Given the description of an element on the screen output the (x, y) to click on. 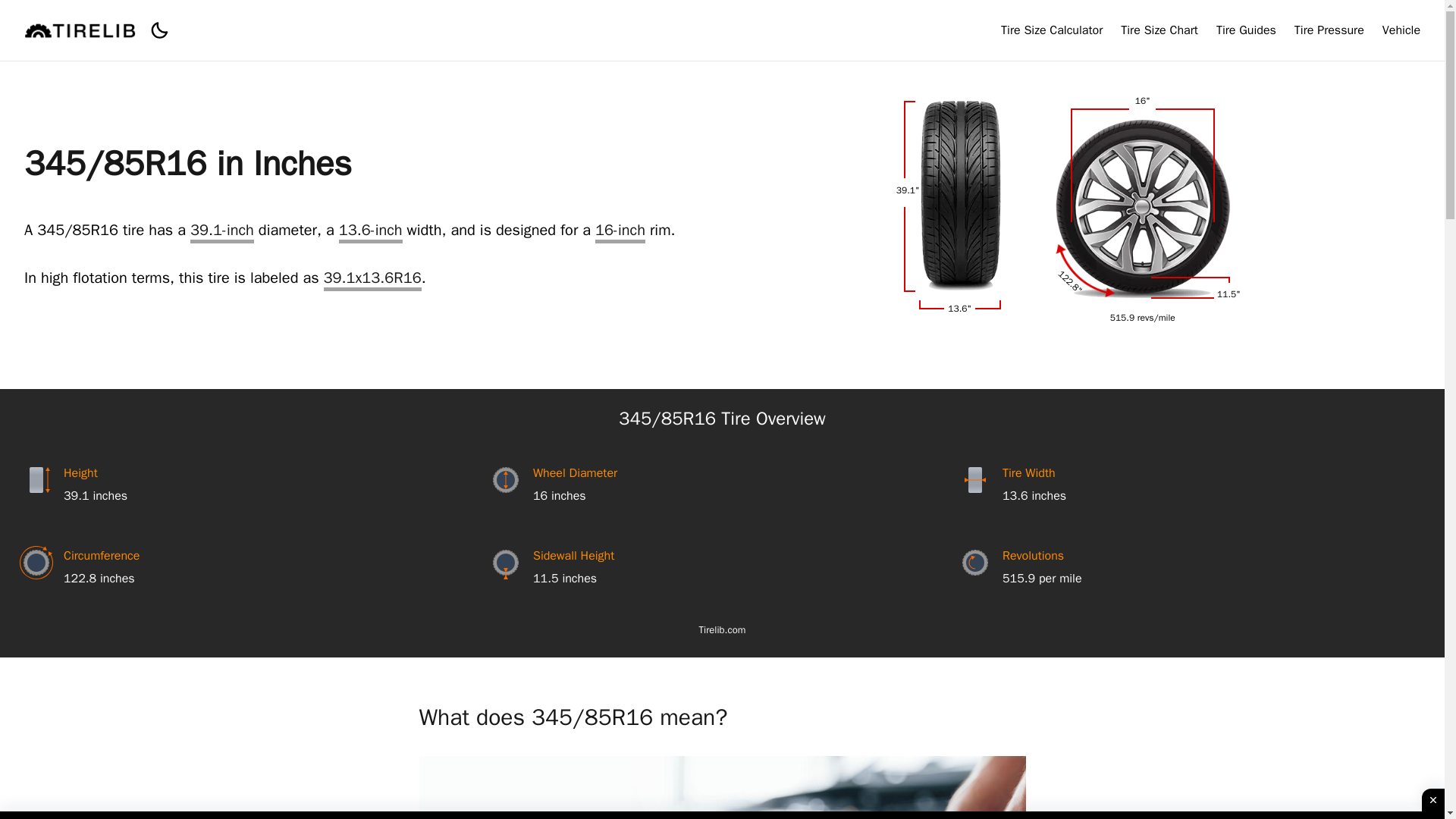
Tire Pressure (1329, 30)
Tire Size Calculator (1051, 30)
Vehicle (1401, 30)
Tire Size Chart (1159, 30)
Tire Guides (1245, 30)
